Given the description of an element on the screen output the (x, y) to click on. 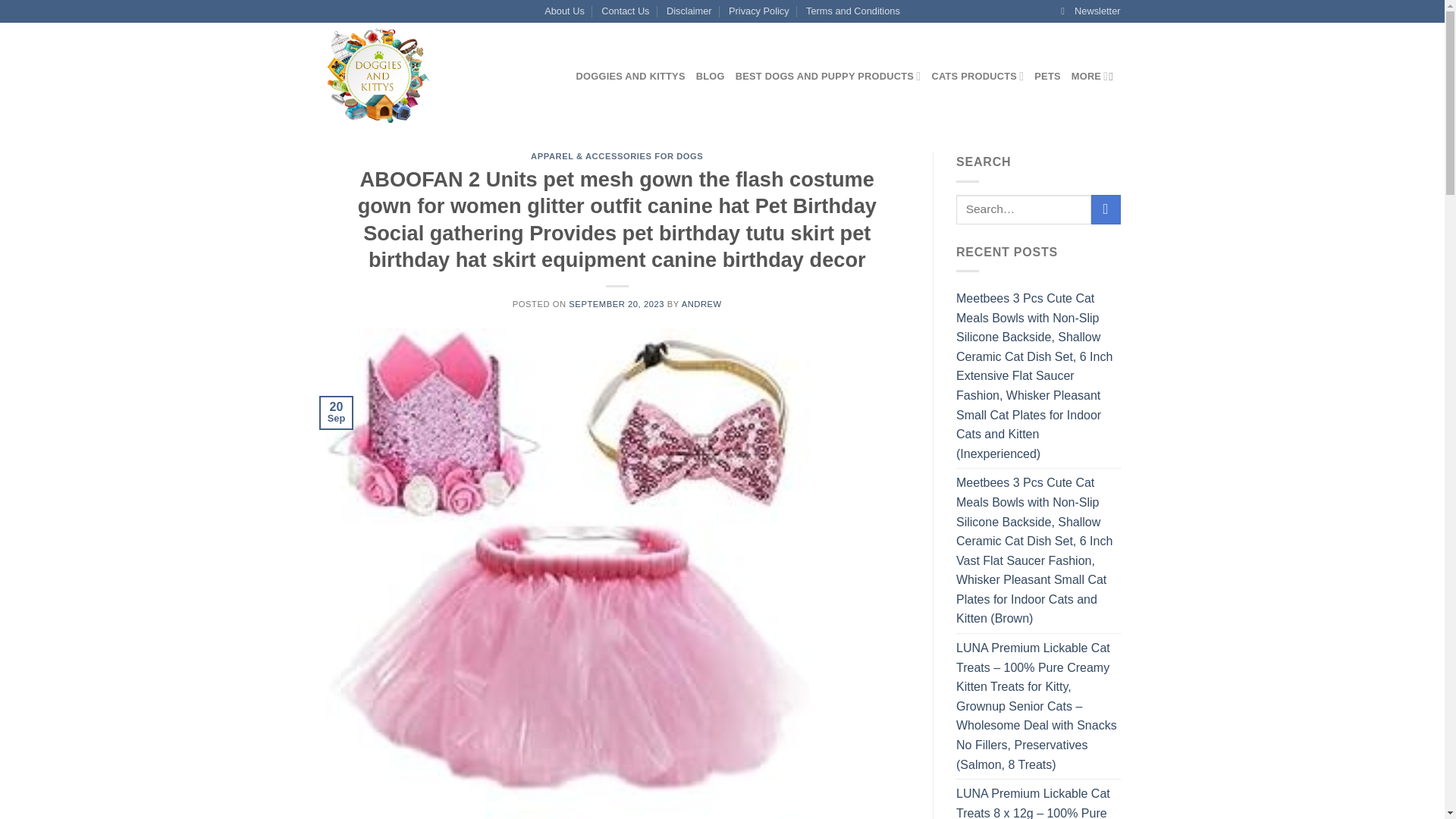
DOGGIES AND KITTYS (630, 75)
BEST DOGS AND PUPPY PRODUCTS (828, 75)
Sign up for Newsletter (1090, 11)
About Us (564, 11)
Disclaimer (688, 11)
Terms and Conditions (852, 11)
Privacy Policy (759, 11)
CATS PRODUCTS (977, 75)
MORE (1089, 75)
BLOG (710, 75)
